Given the description of an element on the screen output the (x, y) to click on. 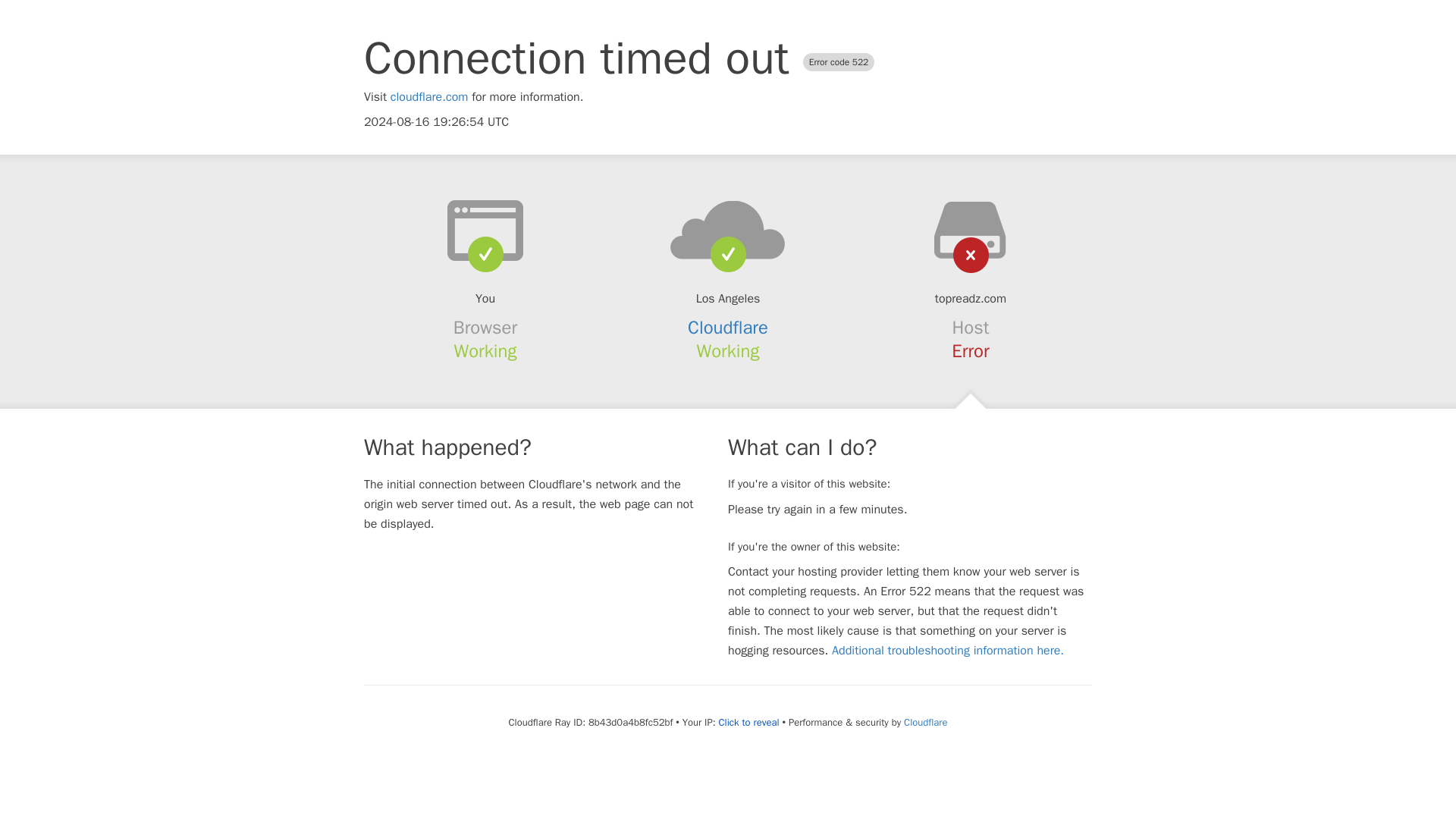
Additional troubleshooting information here. (947, 650)
Cloudflare (925, 721)
Cloudflare (727, 327)
cloudflare.com (429, 96)
Click to reveal (748, 722)
